Given the description of an element on the screen output the (x, y) to click on. 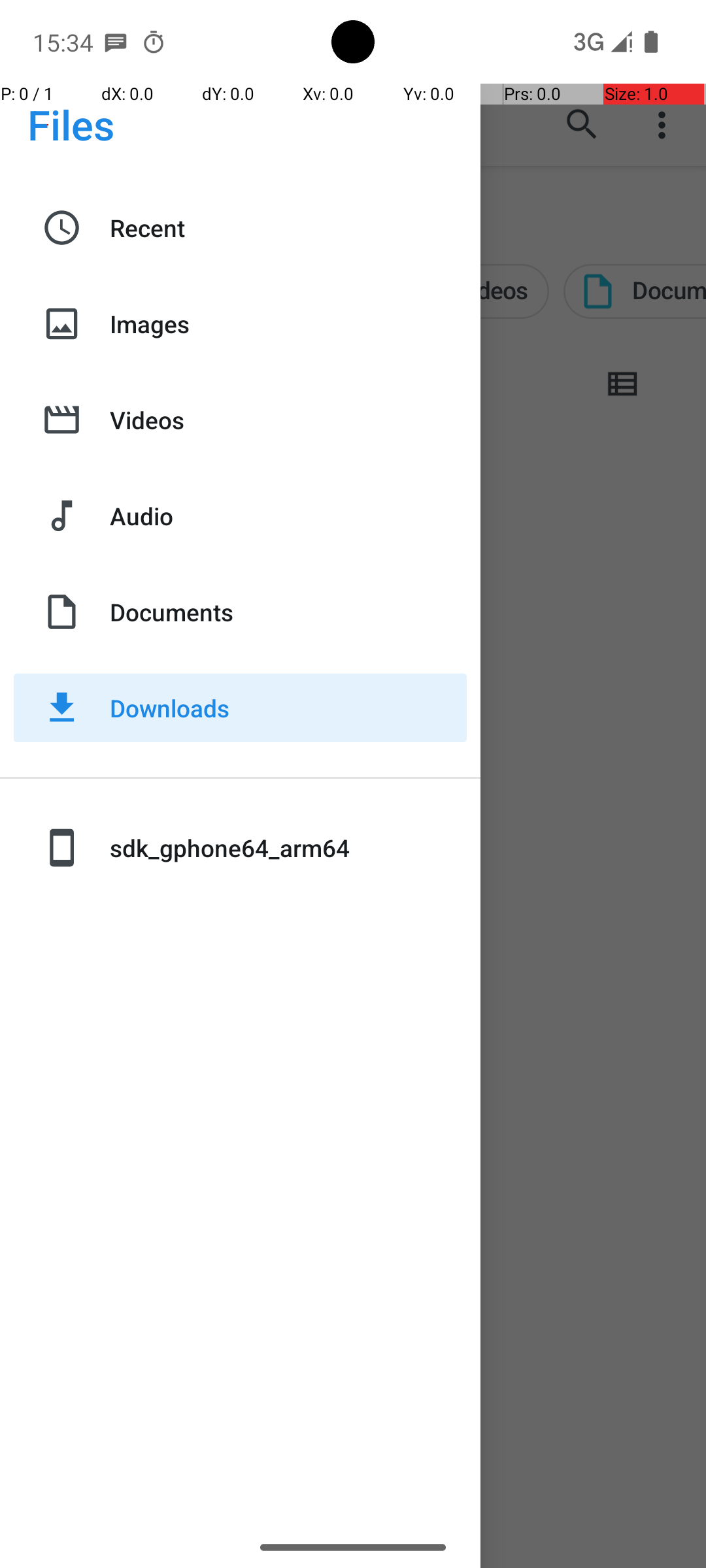
SMS Messenger notification: Amir dos Santos Element type: android.widget.ImageView (115, 41)
